Given the description of an element on the screen output the (x, y) to click on. 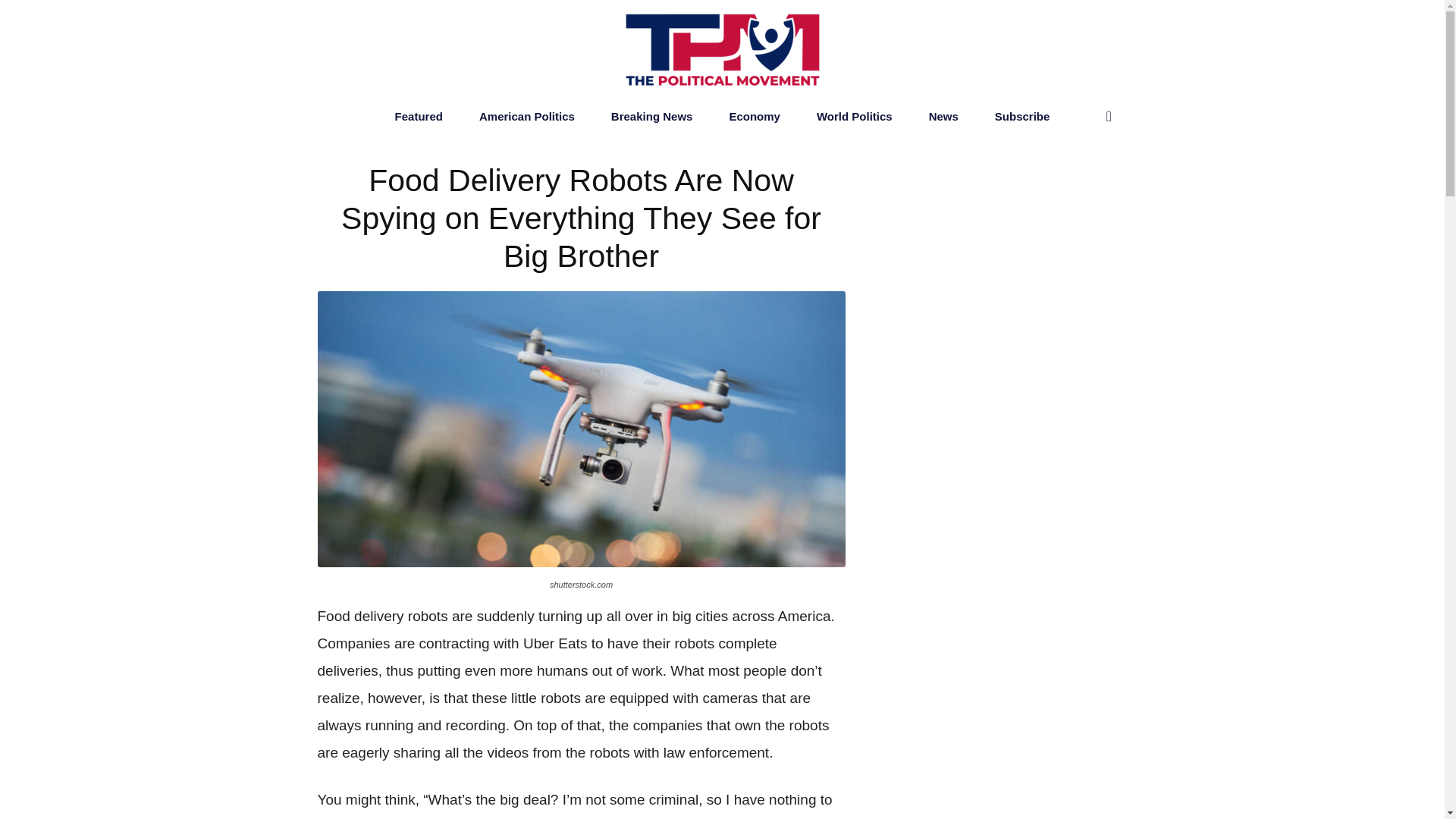
World Politics (854, 116)
Search (1077, 177)
American Politics (526, 116)
Breaking News (651, 116)
News (943, 116)
Featured (419, 116)
Economy (753, 116)
Subscribe (1022, 116)
